Given the description of an element on the screen output the (x, y) to click on. 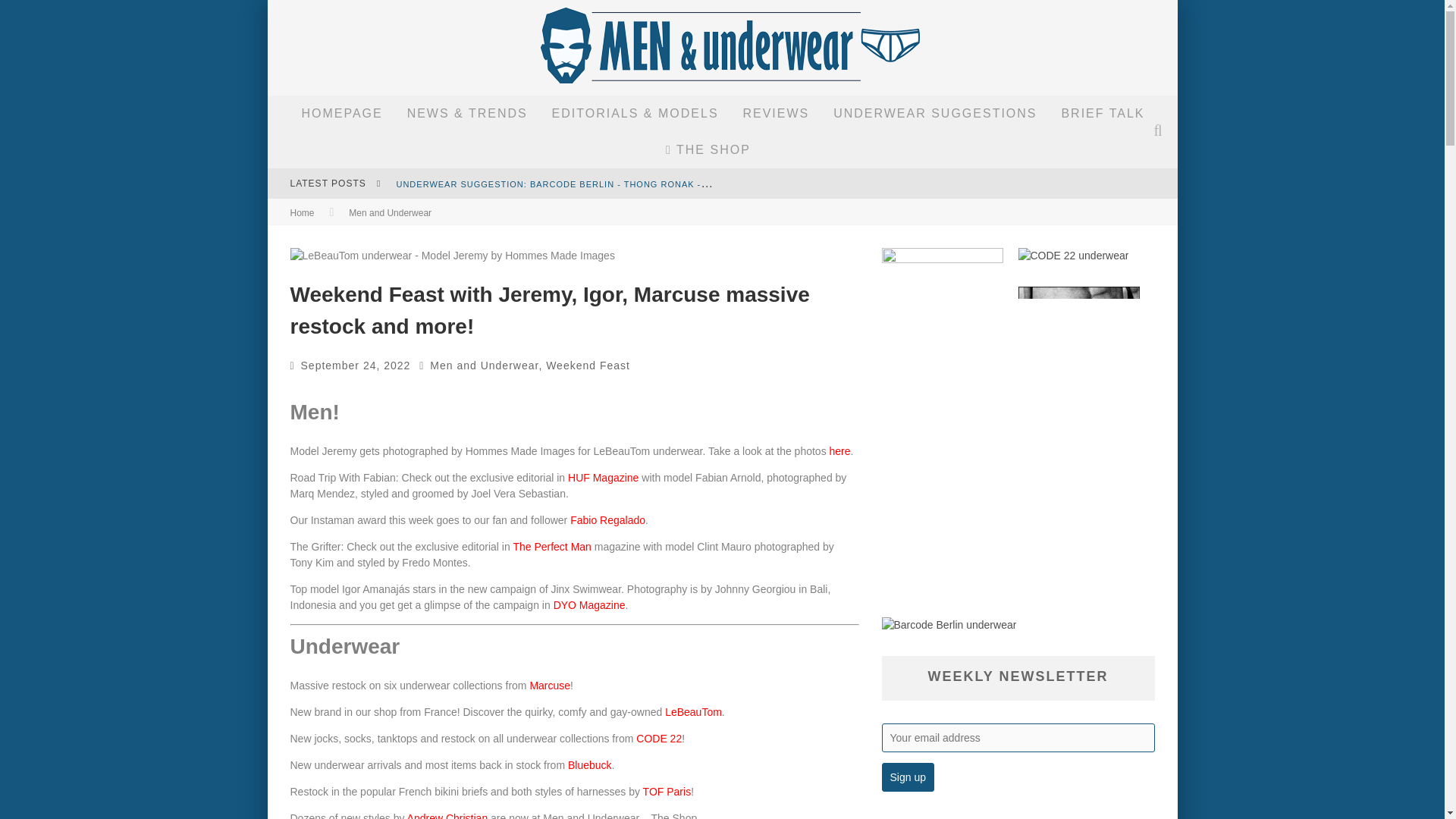
HOMEPAGE (341, 113)
Sign up (906, 776)
View all posts in Men and Underwear (389, 213)
